Given the description of an element on the screen output the (x, y) to click on. 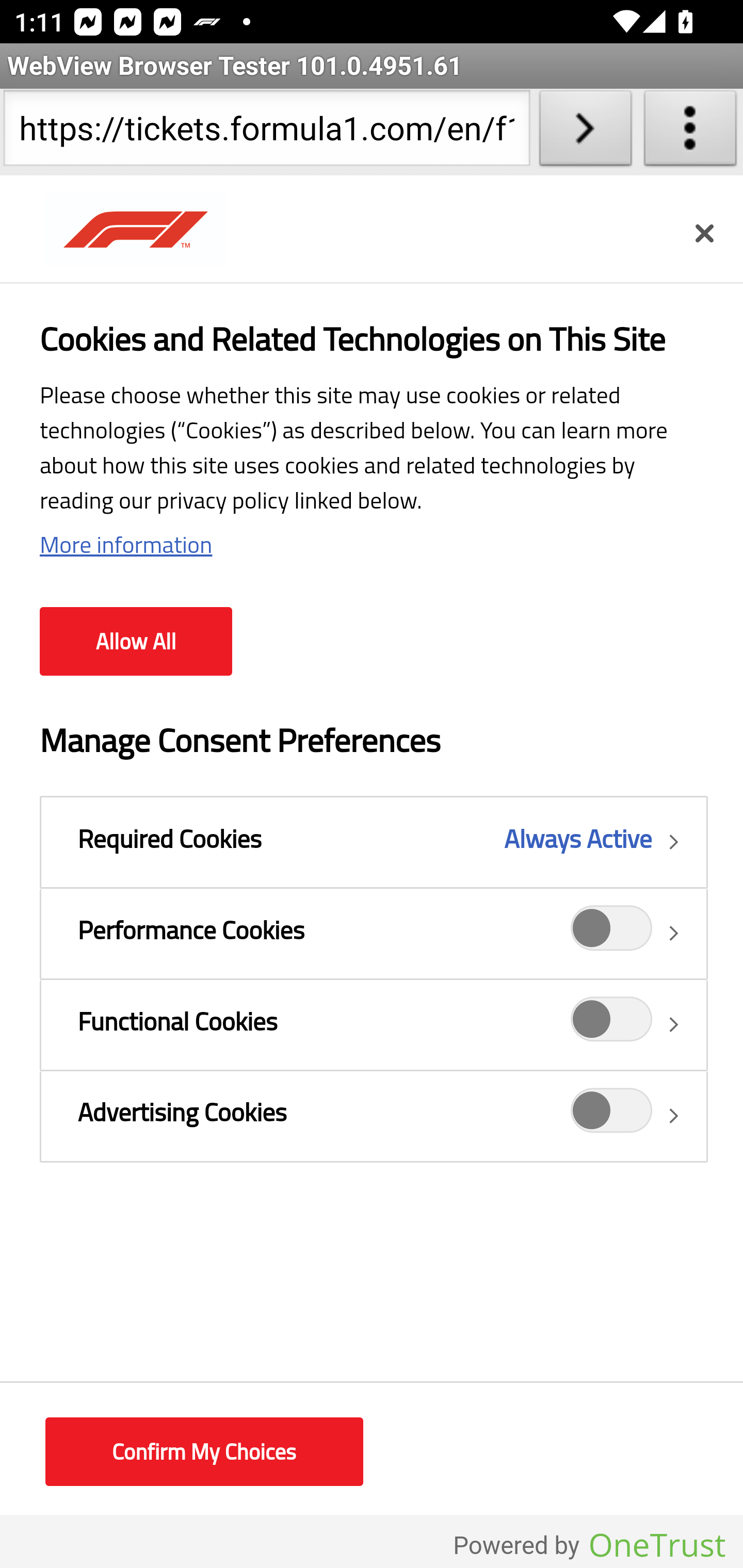
Load URL (585, 132)
About WebView (690, 132)
Close (703, 233)
Next slide Previous slide (371, 505)
Allow All (135, 641)
Required Cookies (373, 841)
Performance Cookies (373, 932)
Performance Cookies (611, 933)
Functional Cookies (373, 1024)
Functional Cookies (611, 1024)
Advertising Cookies (373, 1115)
Advertising Cookies (611, 1115)
Confirm My Choices (203, 1452)
Powered by OneTrust Opens in a new Tab (589, 1545)
